Given the description of an element on the screen output the (x, y) to click on. 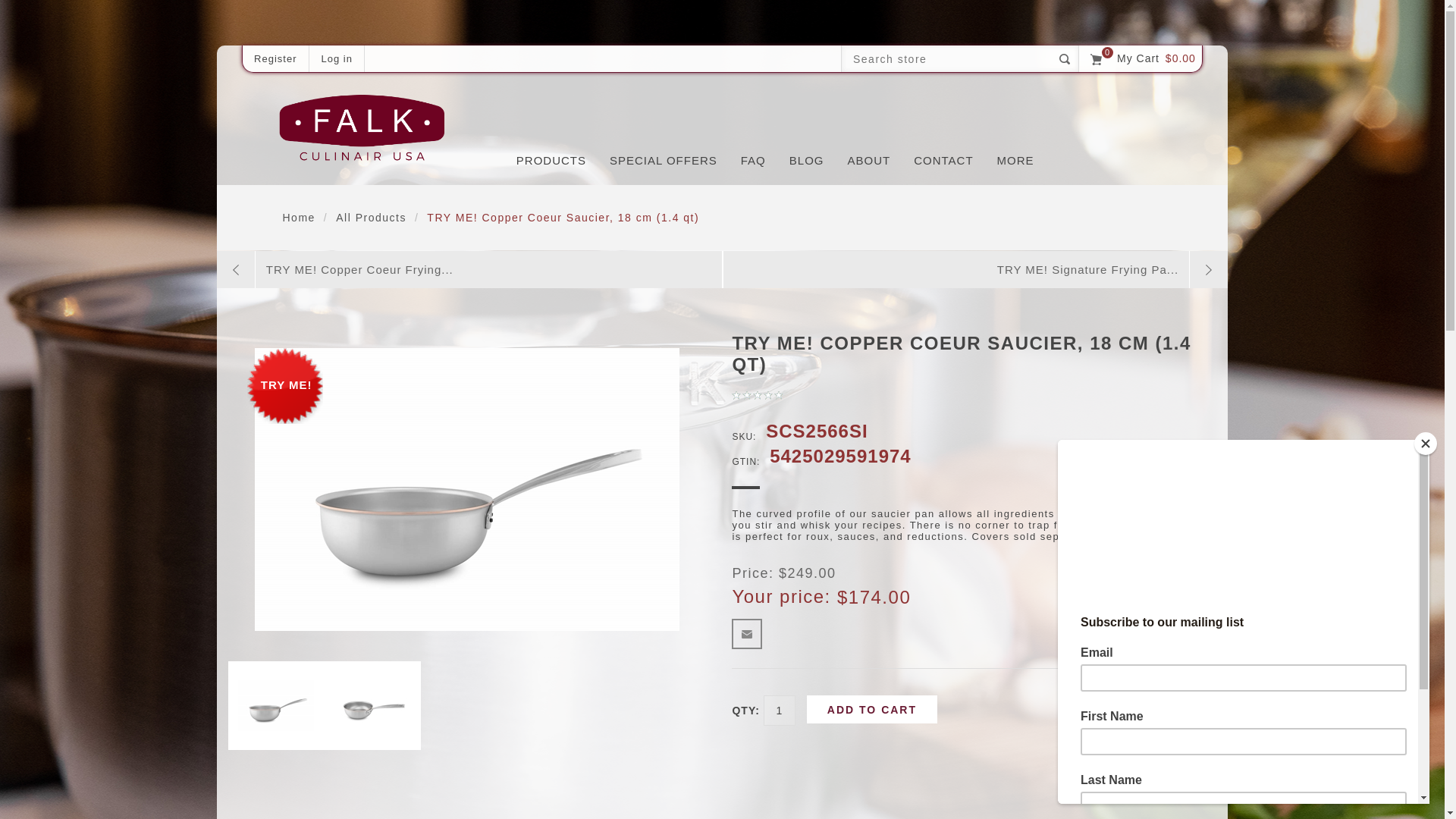
Add to cart (871, 709)
Log in (337, 58)
1 (778, 710)
BLOG (806, 160)
CONTACT (943, 160)
Search (1064, 58)
MORE (1015, 160)
ABOUT (868, 160)
Email a friend (746, 634)
Search (1064, 58)
Search (1064, 58)
Register (275, 58)
SPECIAL OFFERS (663, 160)
FAQ (753, 160)
FAQ (753, 160)
